Given the description of an element on the screen output the (x, y) to click on. 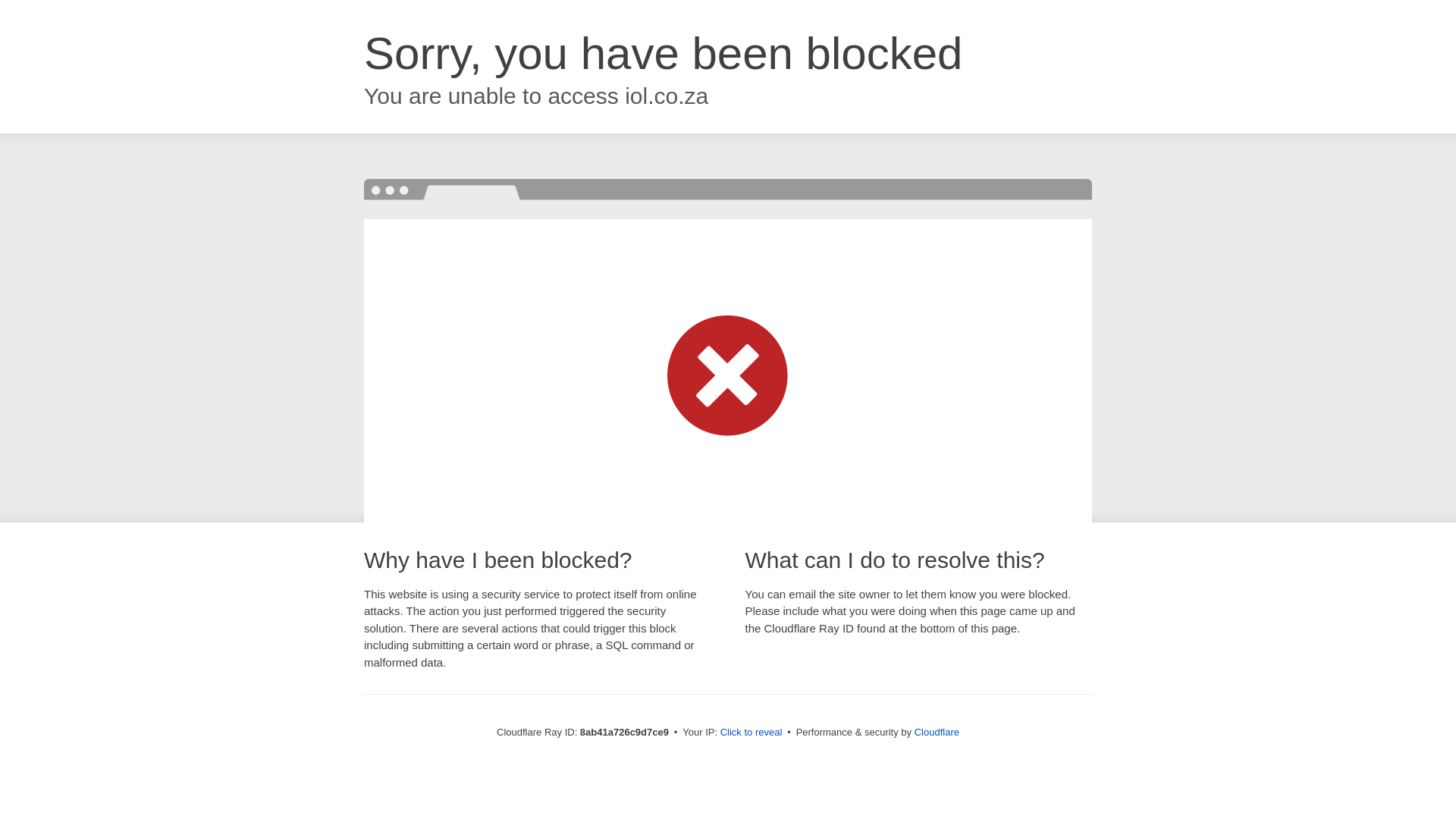
Click to reveal (751, 732)
Cloudflare (936, 731)
